Given the description of an element on the screen output the (x, y) to click on. 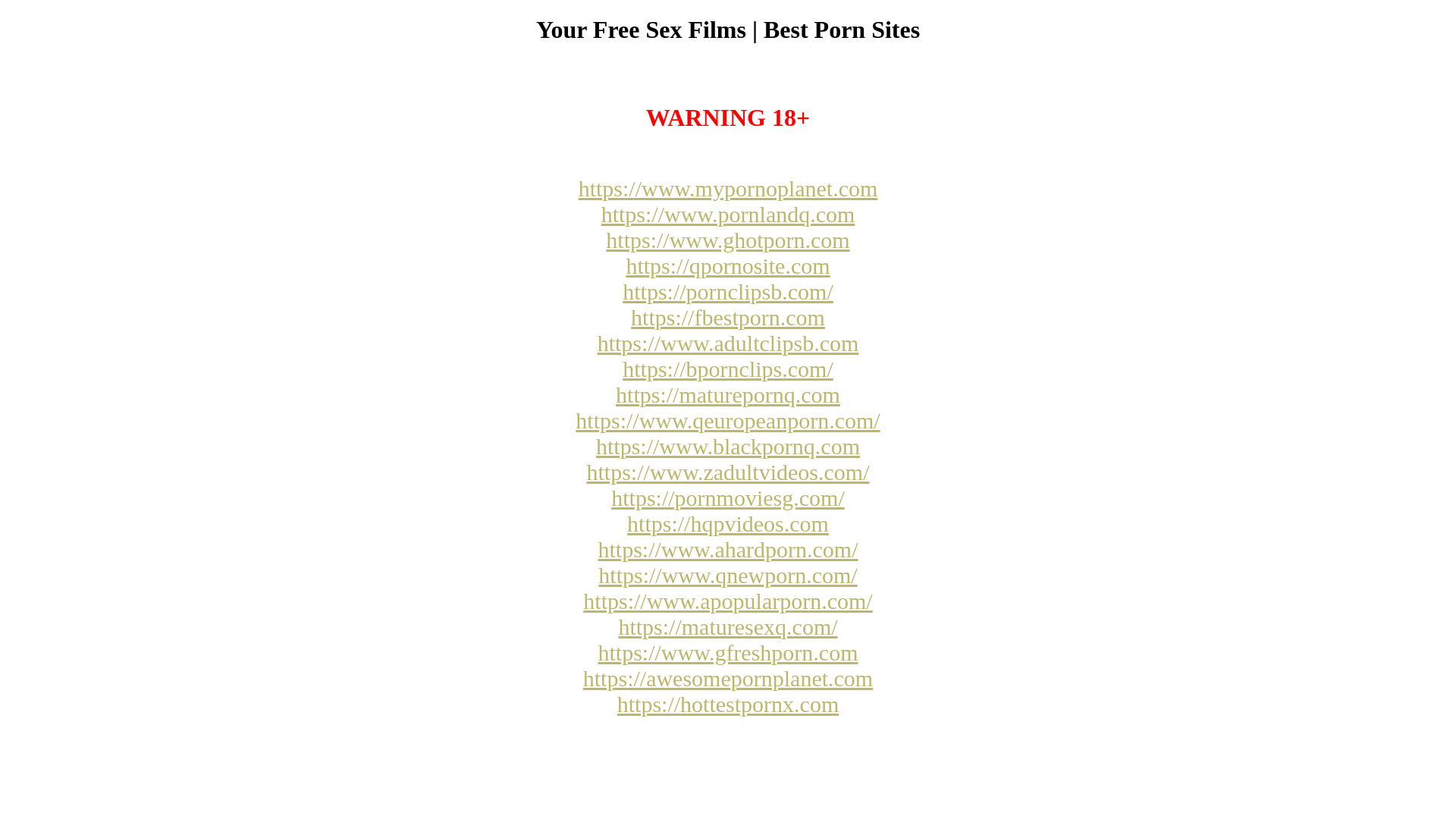
https://www.ahardporn.com/ Element type: text (727, 548)
https://qpornosite.com Element type: text (727, 265)
https://www.apopularporn.com/ Element type: text (727, 600)
https://pornclipsb.com/ Element type: text (727, 291)
https://hottestpornx.com Element type: text (728, 703)
https://www.mypornoplanet.com Element type: text (728, 187)
https://www.zadultvideos.com/ Element type: text (727, 471)
https://bpornclips.com/ Element type: text (727, 368)
https://www.qeuropeanporn.com/ Element type: text (727, 420)
https://www.gfreshporn.com Element type: text (727, 652)
https://maturepornq.com Element type: text (727, 394)
https://www.ghotporn.com Element type: text (727, 239)
https://pornmoviesg.com/ Element type: text (727, 497)
https://maturesexq.com/ Element type: text (727, 626)
https://www.pornlandq.com Element type: text (728, 213)
https://fbestporn.com Element type: text (727, 316)
https://www.adultclipsb.com Element type: text (728, 342)
https://www.qnewporn.com/ Element type: text (727, 574)
https://www.blackpornq.com Element type: text (727, 445)
https://awesomepornplanet.com Element type: text (727, 677)
https://hqpvideos.com Element type: text (727, 523)
